Given the description of an element on the screen output the (x, y) to click on. 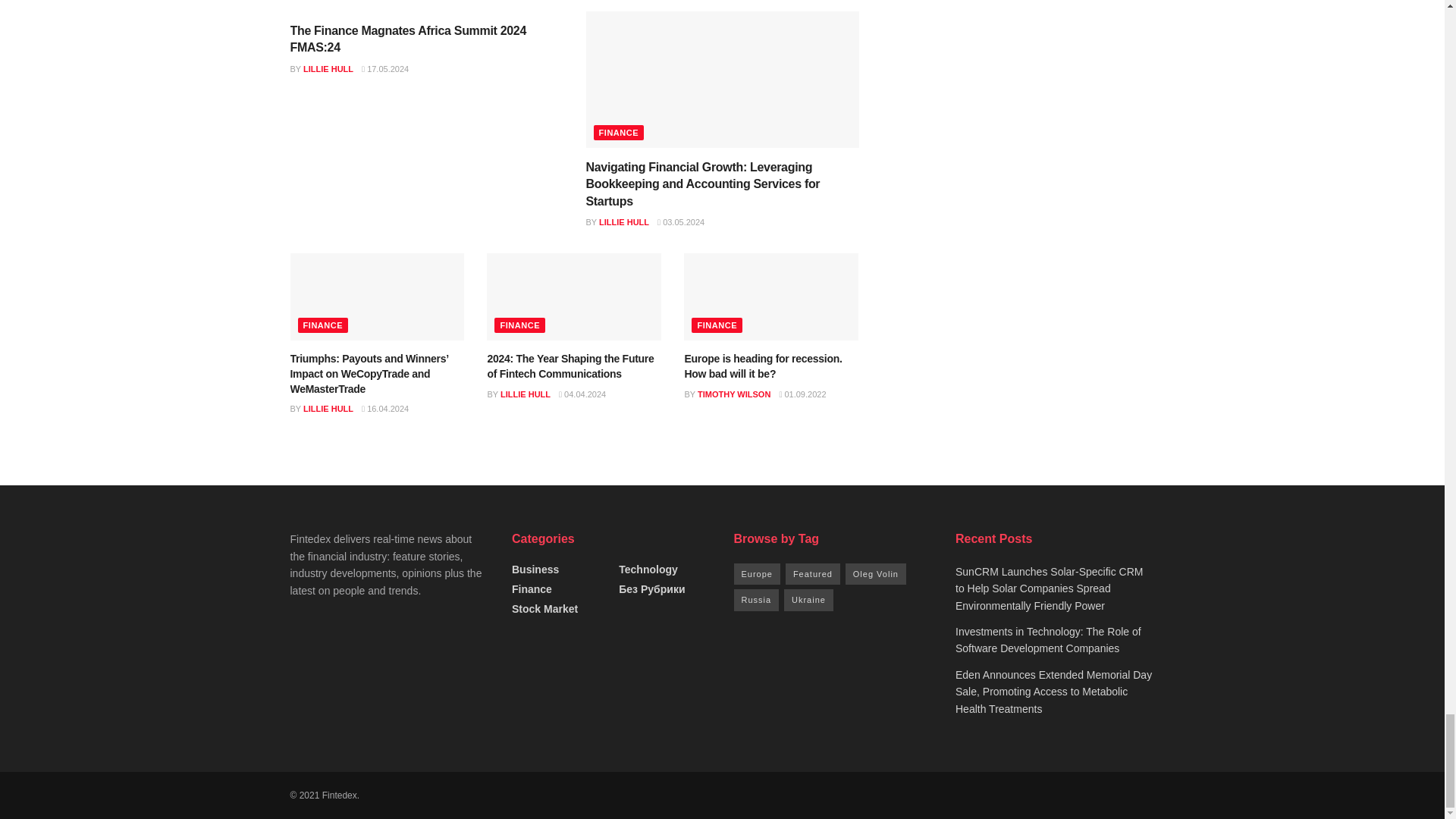
The Finance Magnates Africa Summit 2024 FMAS:24 (407, 39)
FINANCE (617, 132)
03.05.2024 (681, 221)
FINANCE (322, 324)
LILLIE HULL (327, 68)
LILLIE HULL (623, 221)
17.05.2024 (385, 68)
